Given the description of an element on the screen output the (x, y) to click on. 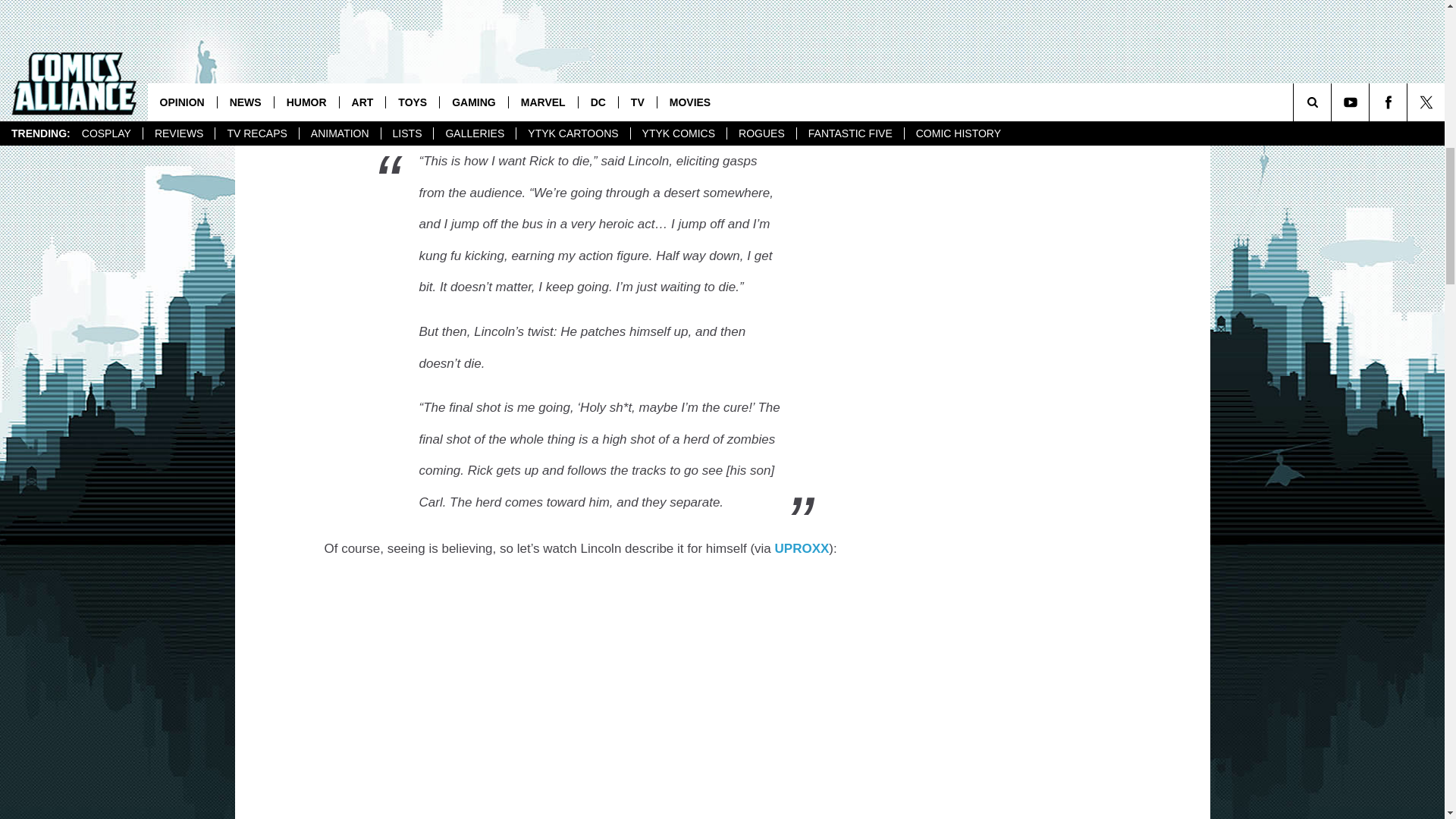
Love Actually (560, 16)
UPROXX (801, 548)
IndieWire (420, 114)
